Given the description of an element on the screen output the (x, y) to click on. 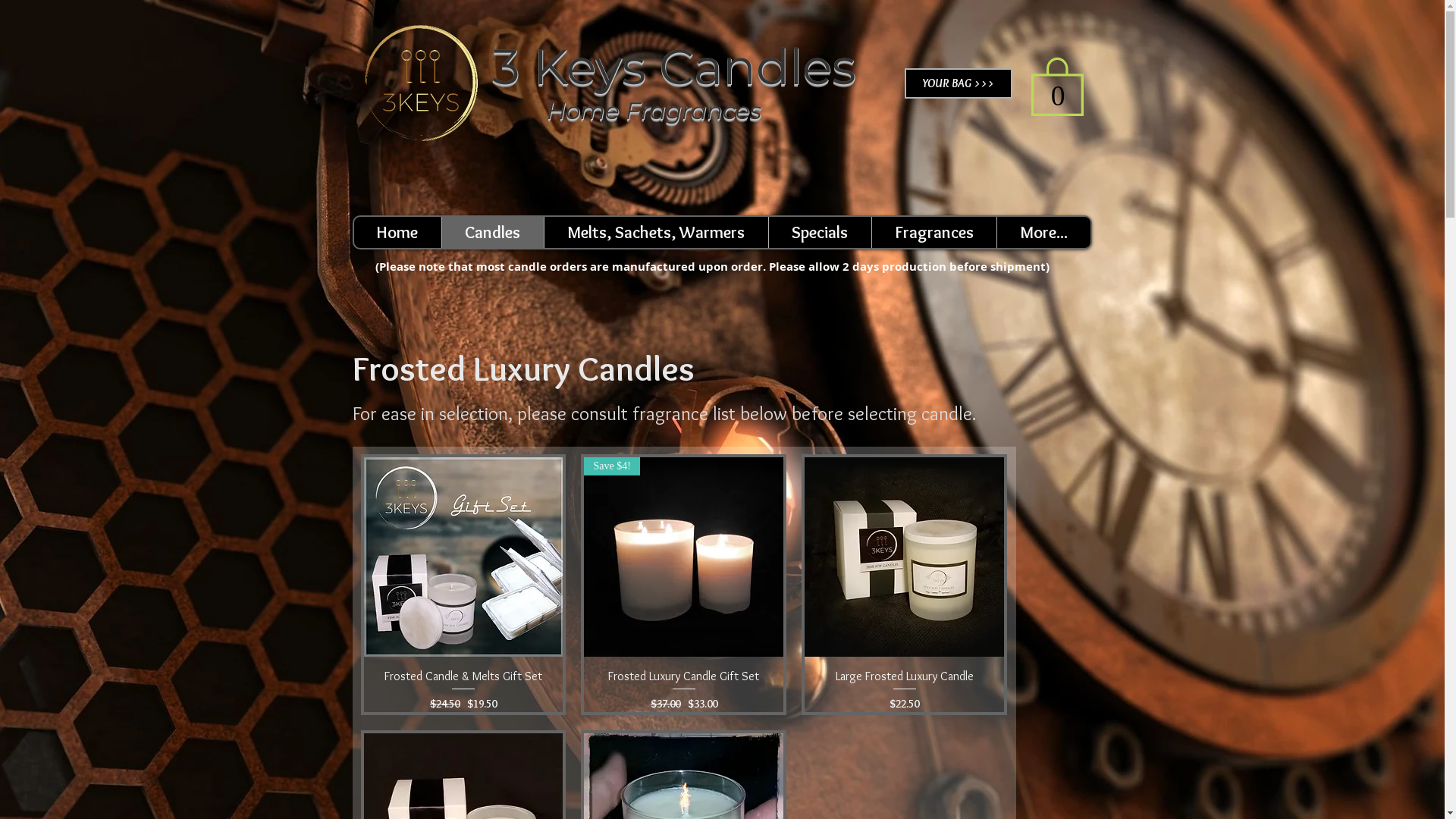
Specials Element type: text (818, 231)
Melts, Sachets, Warmers Element type: text (654, 231)
3 Keys Candles Element type: text (673, 66)
Home Element type: text (396, 231)
Save $4! Element type: text (683, 556)
Site Search Element type: hover (996, 181)
Fragrances Element type: text (932, 231)
0 Element type: text (1057, 84)
Large Frosted Luxury Candle
Price
$22.50 Element type: text (904, 690)
Candles Element type: text (492, 231)
